Given the description of an element on the screen output the (x, y) to click on. 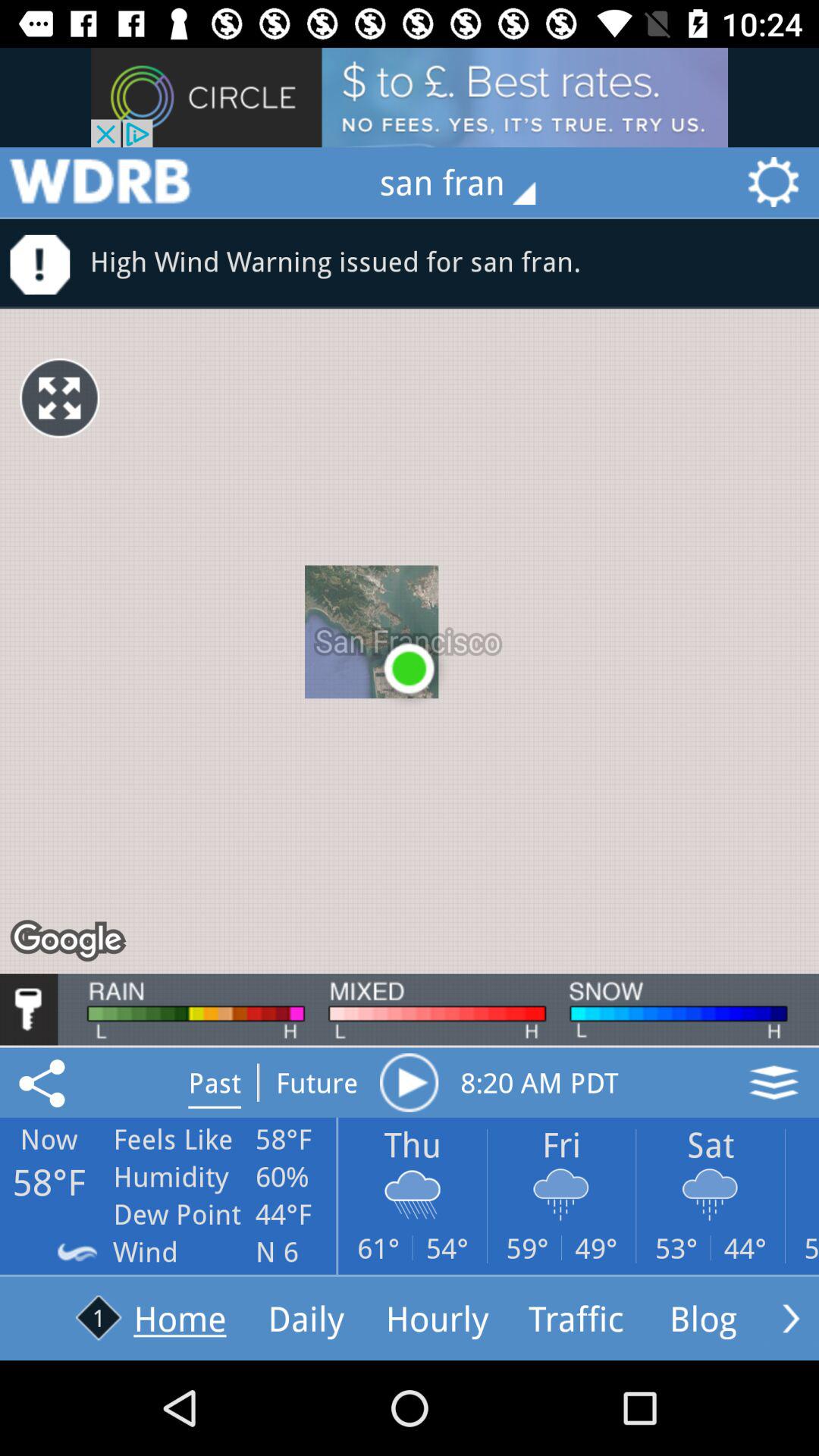
select the text which is just left to future (214, 1082)
